Given the description of an element on the screen output the (x, y) to click on. 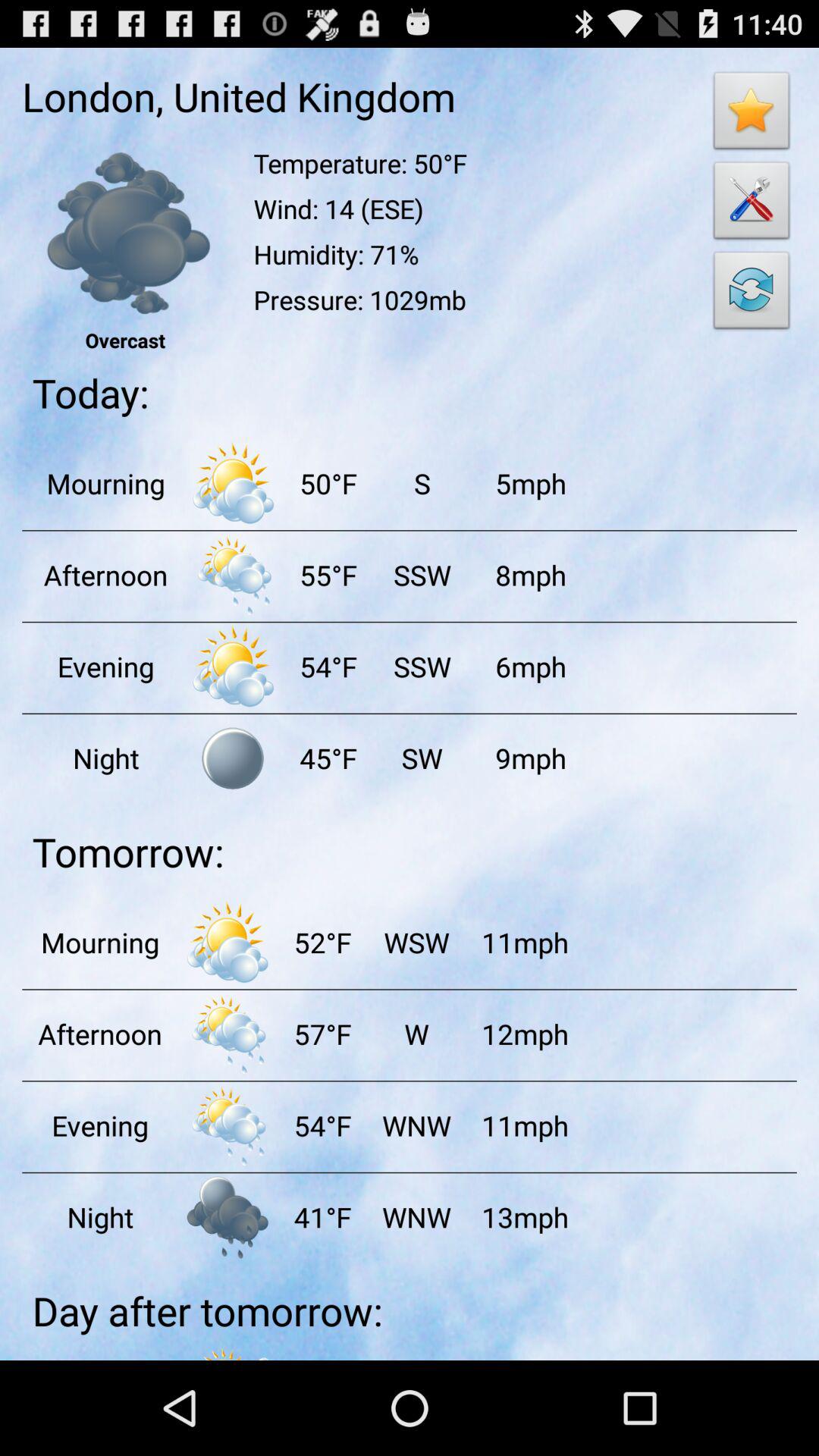
open the item below the tomorrow: item (322, 942)
